Given the description of an element on the screen output the (x, y) to click on. 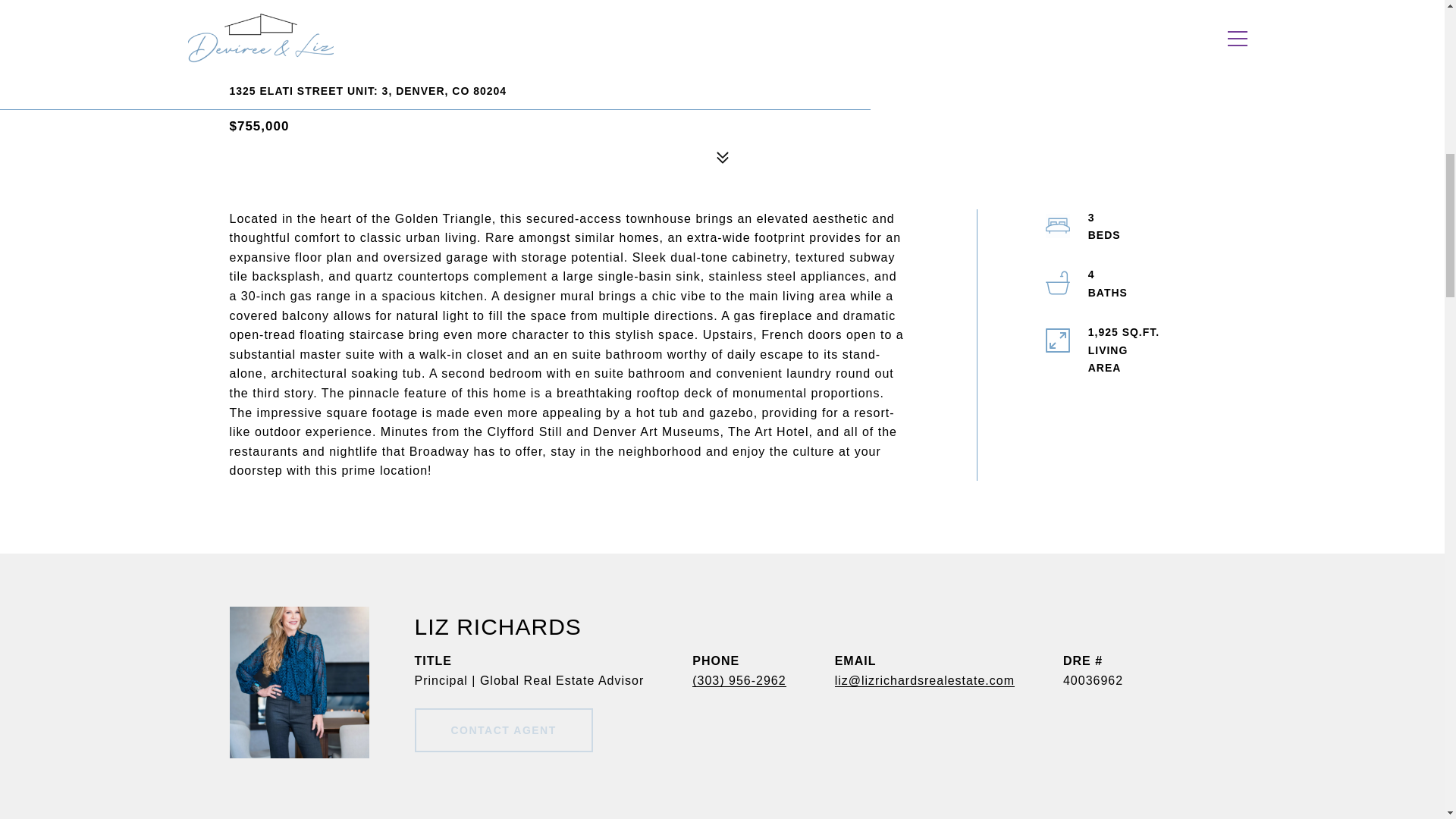
CONTACT AGENT (502, 730)
